Given the description of an element on the screen output the (x, y) to click on. 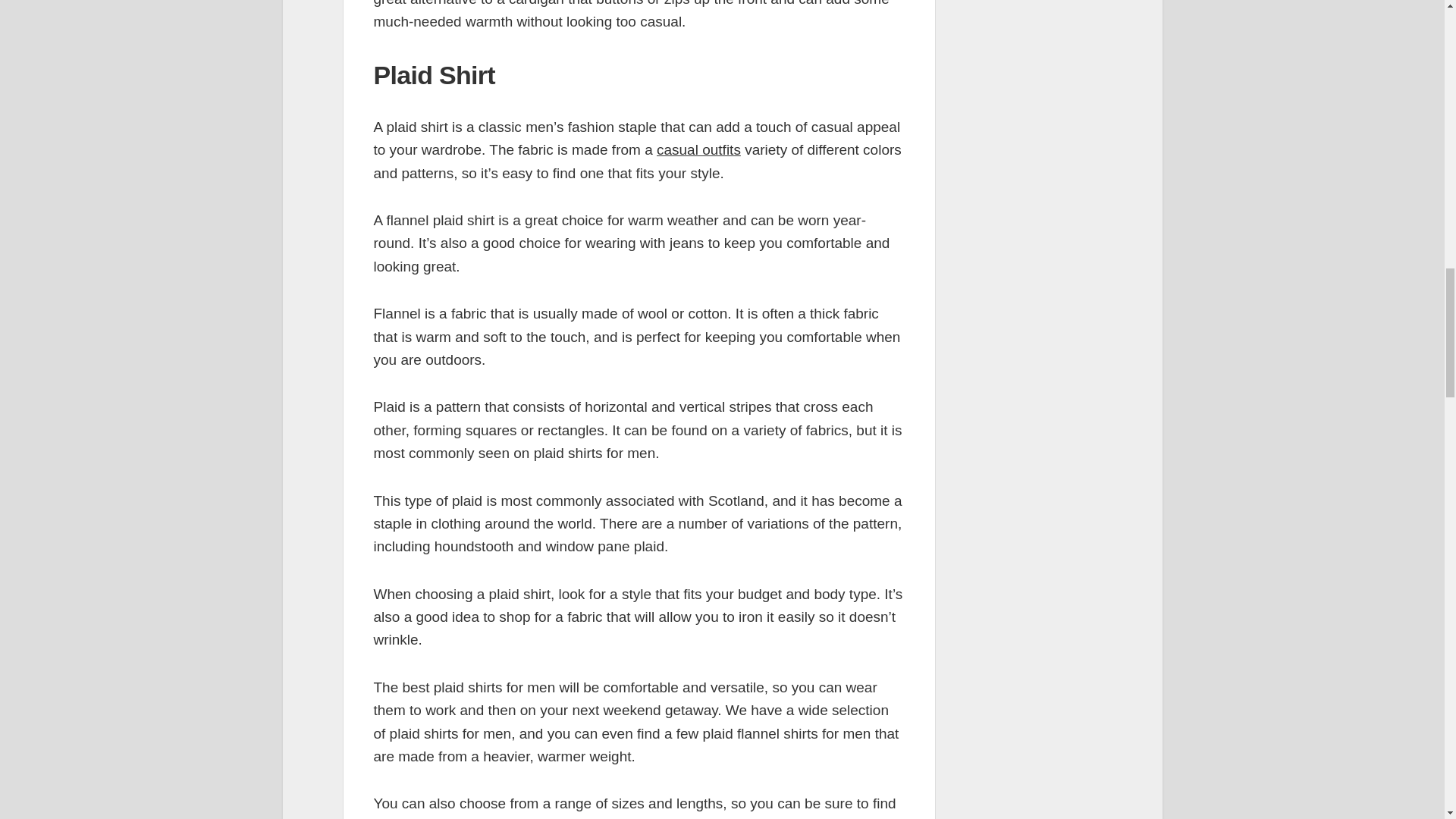
casual outfits (698, 149)
